Given the description of an element on the screen output the (x, y) to click on. 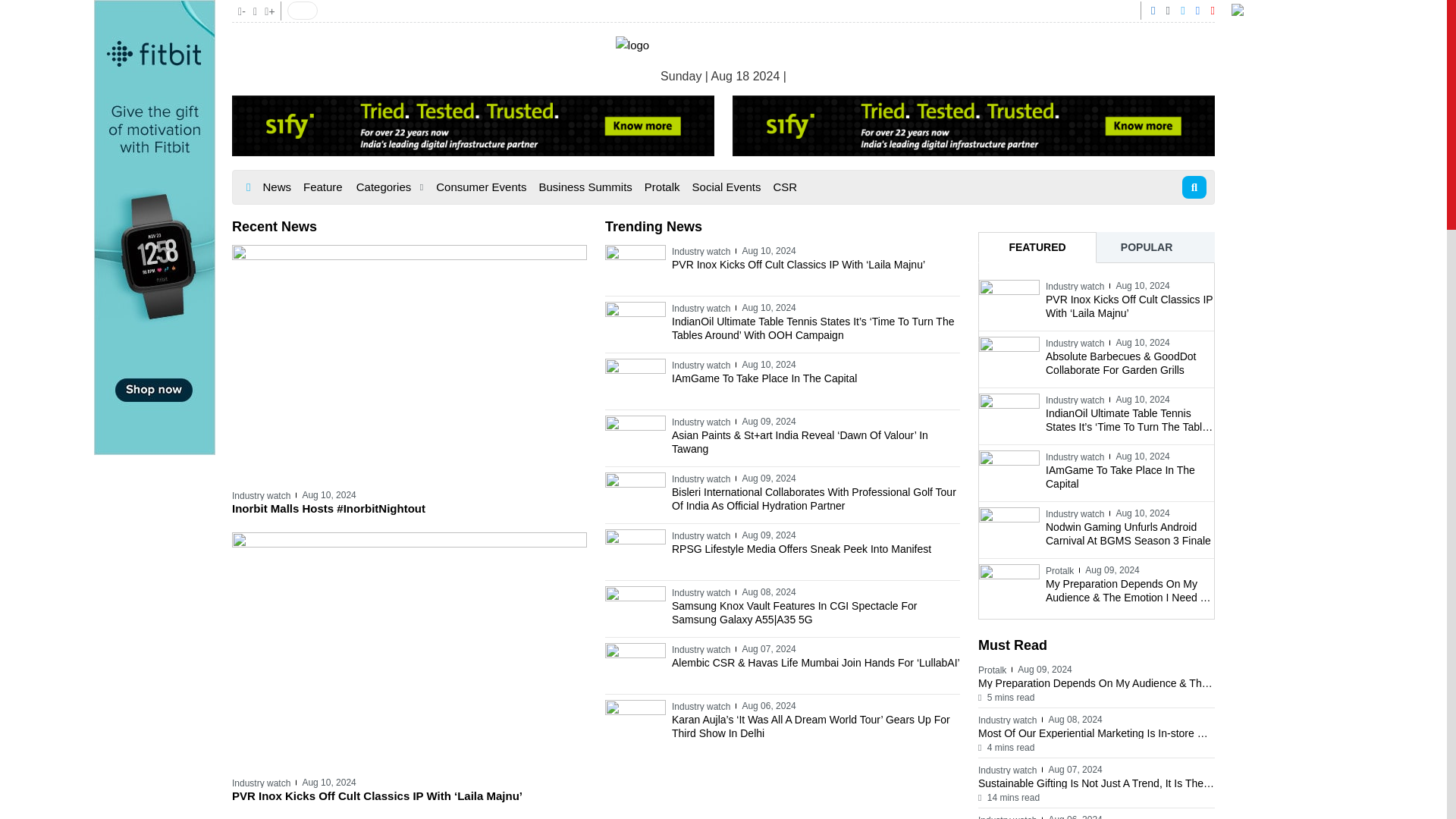
Feature (323, 186)
Protalk (662, 186)
Social Events (726, 186)
Categories (389, 186)
News (276, 186)
Consumer Events (480, 186)
on (301, 10)
Business Summits (584, 186)
CSR (785, 186)
